Given the description of an element on the screen output the (x, y) to click on. 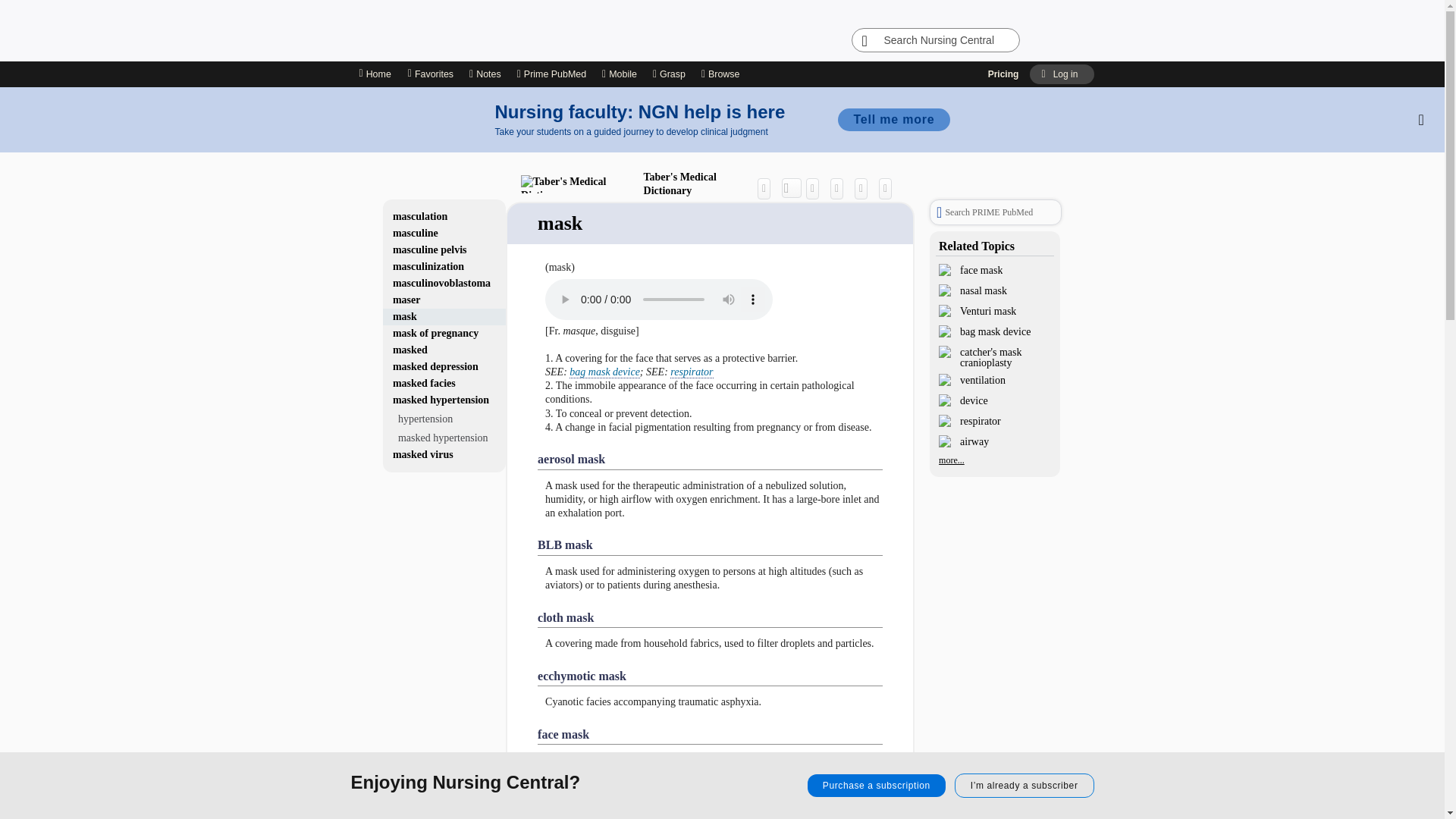
Taber's Medical Dictionary (636, 184)
Print PDF (839, 188)
Favorites (429, 73)
Favorite (864, 188)
Mobile (619, 73)
Browse (722, 73)
Log in (1061, 74)
Notes (484, 73)
Grasp (669, 73)
Notes (484, 73)
